Given the description of an element on the screen output the (x, y) to click on. 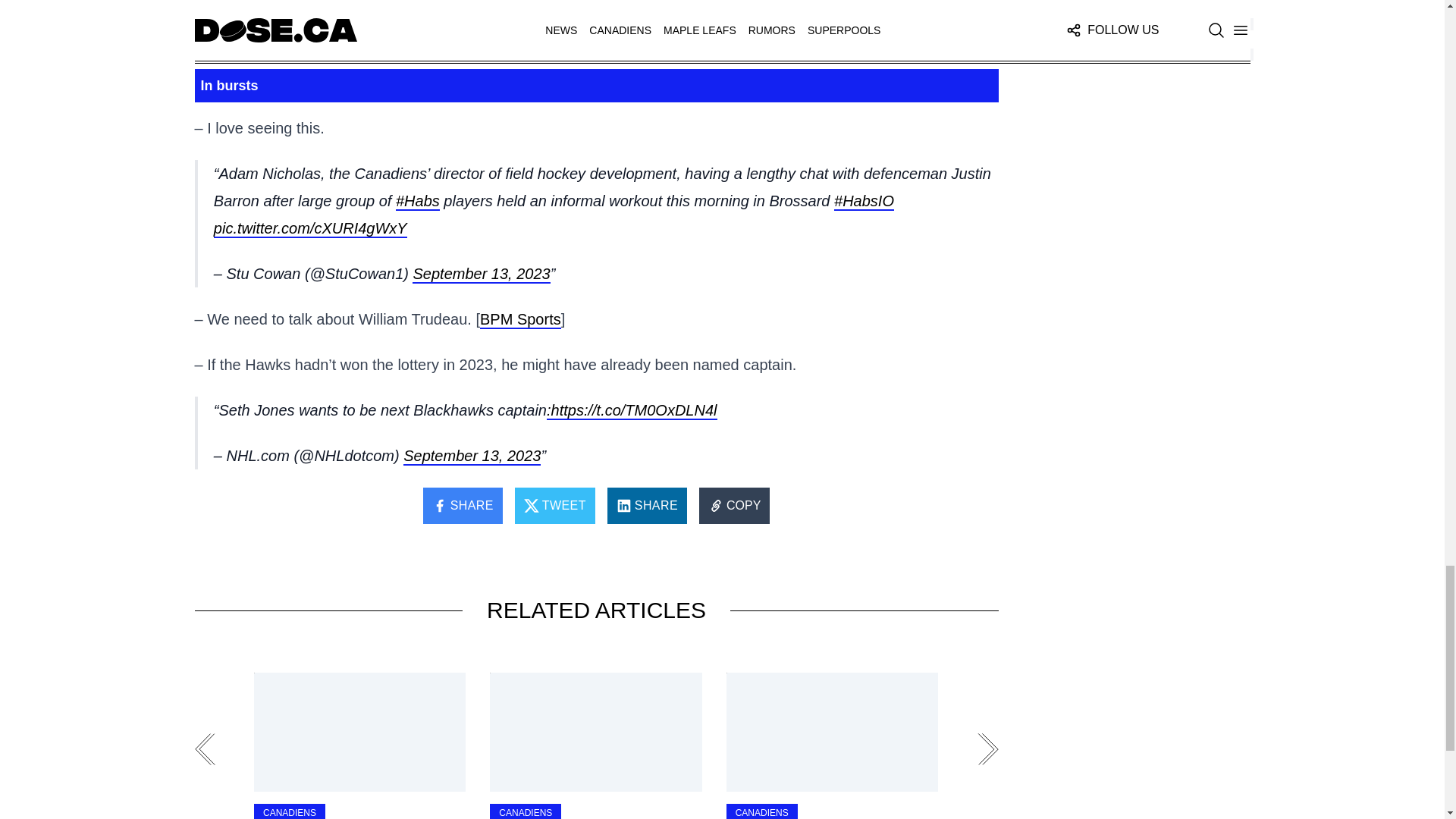
SHARE (462, 505)
September 13, 2023 (481, 274)
BPM Sports (520, 320)
SHARE (647, 505)
September 13, 2023 (471, 456)
TWEET (555, 505)
CANADIENS (526, 811)
COPY (734, 505)
CANADIENS (288, 811)
